Given the description of an element on the screen output the (x, y) to click on. 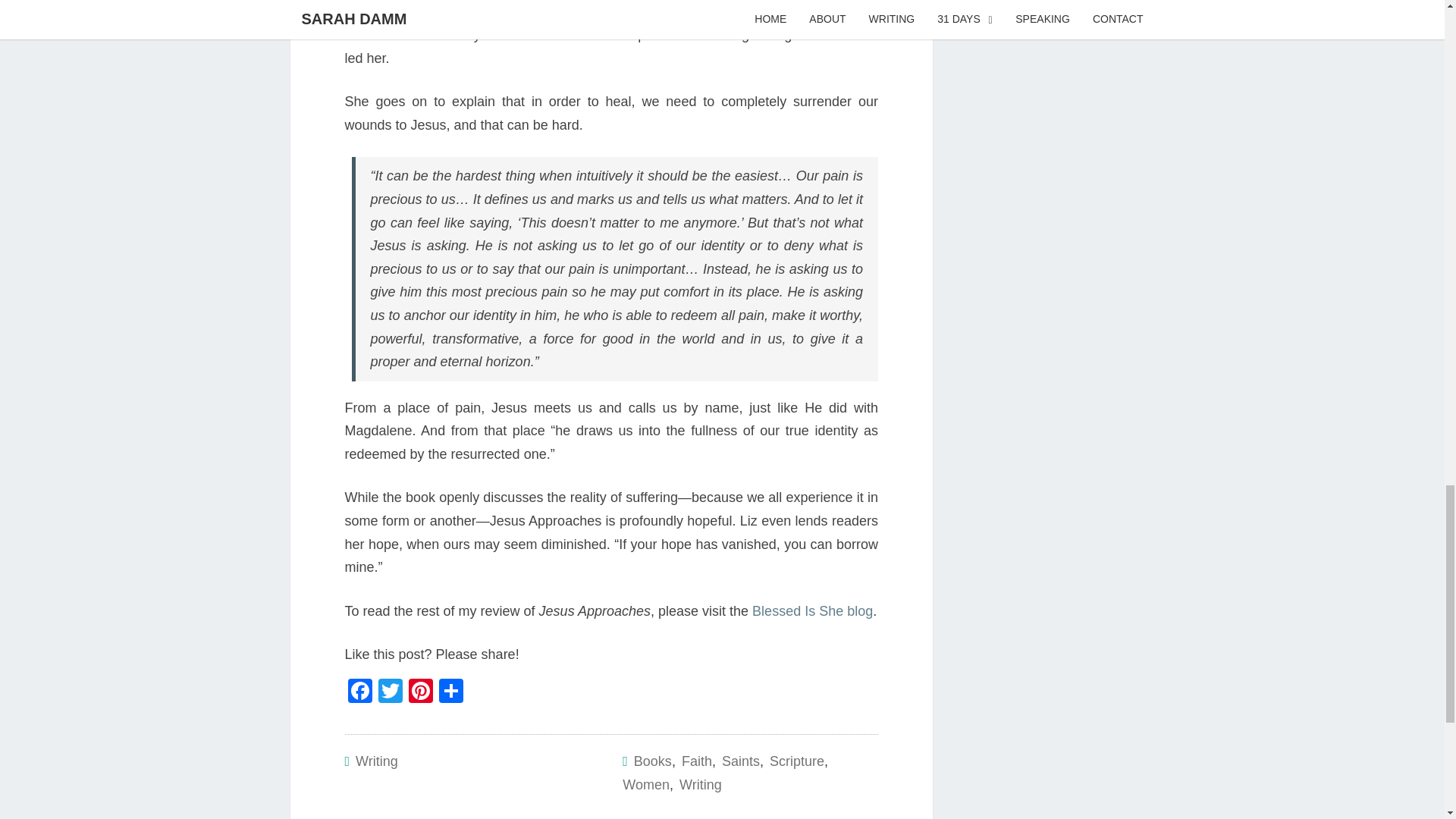
Twitter (389, 692)
Books (652, 761)
Pinterest (419, 692)
Blessed Is She blog (812, 611)
Writing (376, 761)
Saints (741, 761)
Facebook (358, 692)
Facebook (358, 692)
Pinterest (419, 692)
Twitter (389, 692)
